Given the description of an element on the screen output the (x, y) to click on. 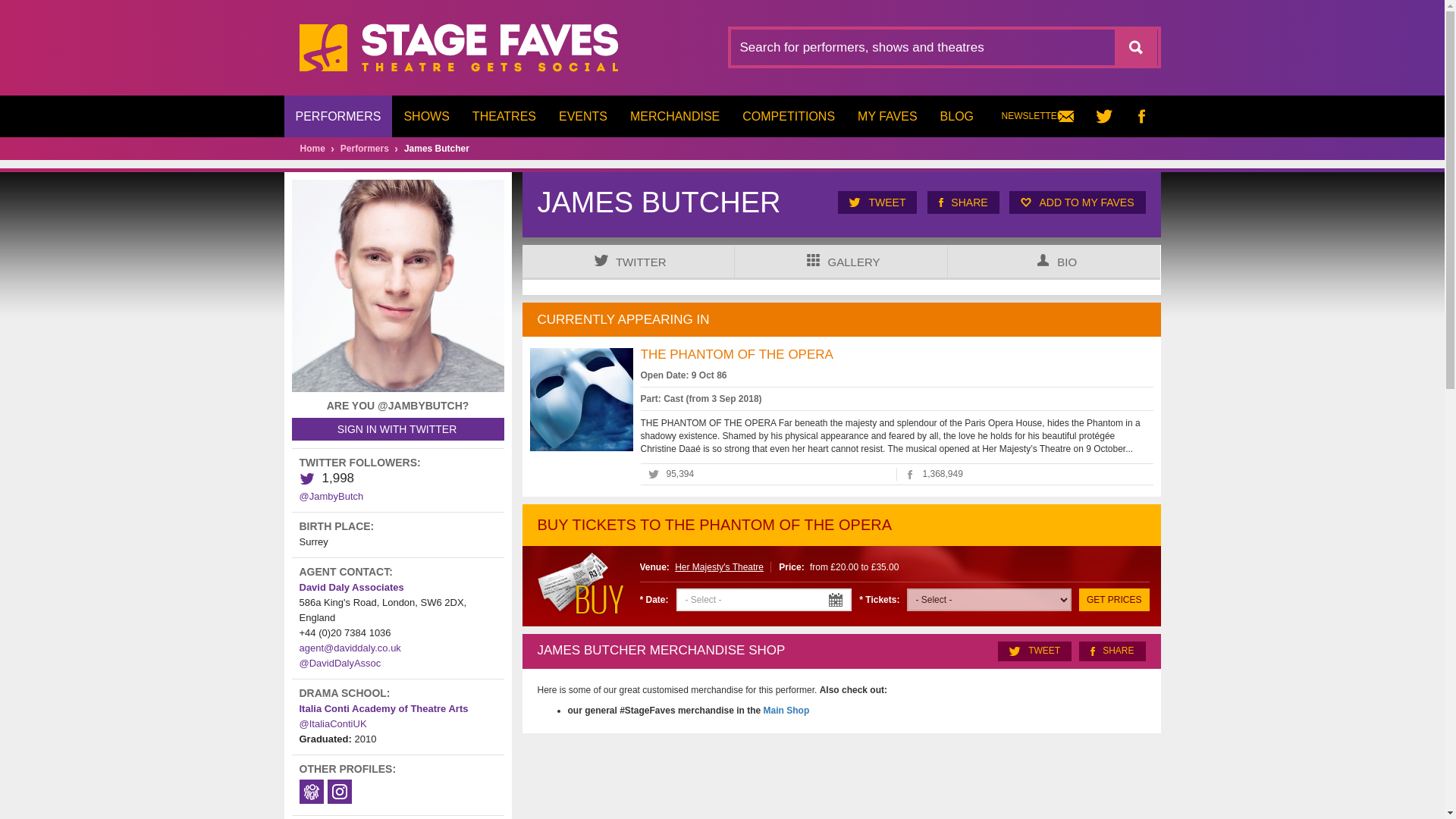
MERCHANDISE (674, 116)
James Butcher (436, 148)
David Daly Associates (350, 586)
Subscribe to our Newsletter (1042, 116)
MY FAVES (886, 116)
Follow us on Facebook (1141, 116)
EVENTS (582, 116)
Performers (364, 148)
Home (311, 148)
COMPETITIONS (787, 116)
